Given the description of an element on the screen output the (x, y) to click on. 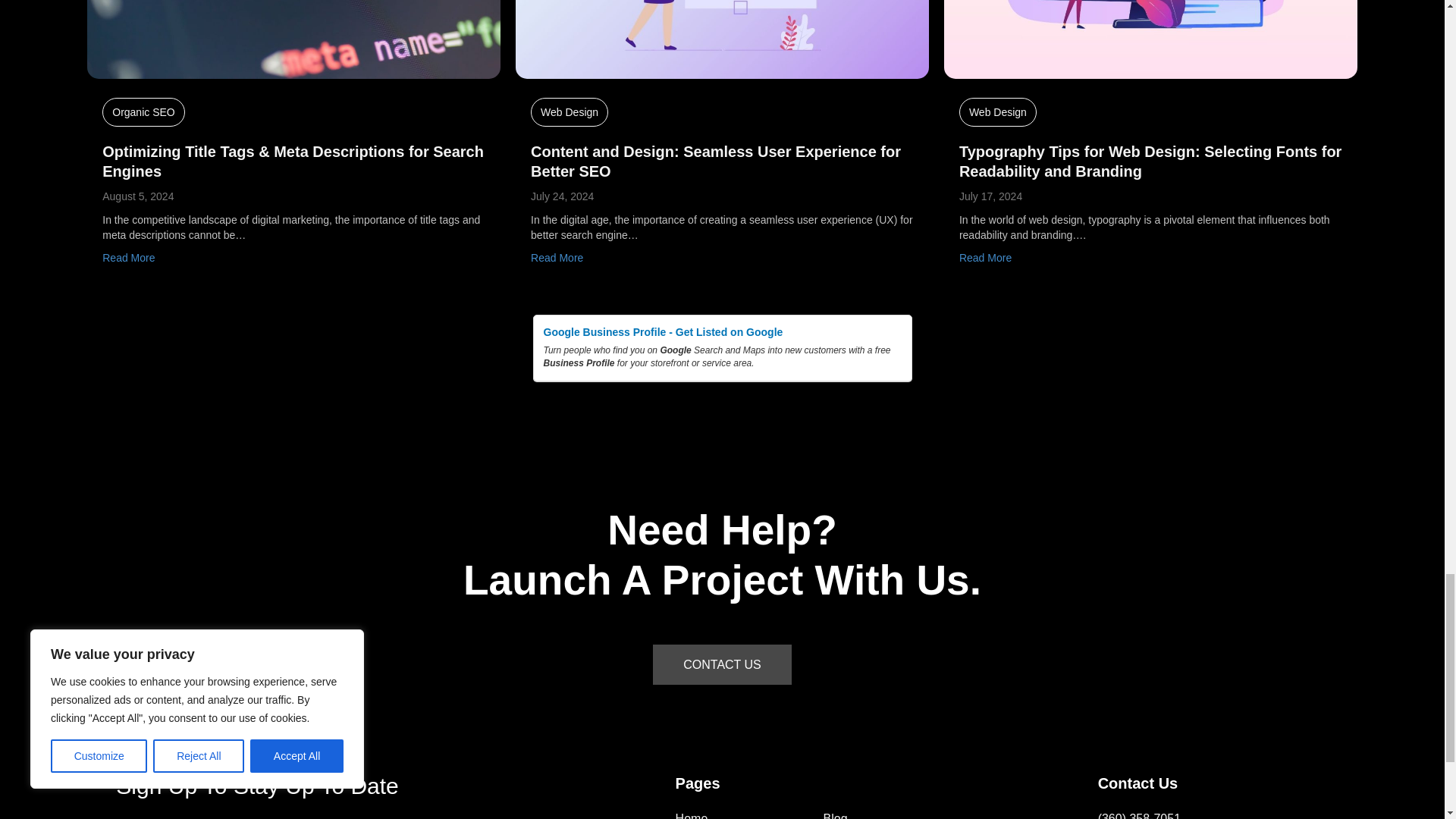
Web Design (569, 111)
Content and Design: Seamless User Experience for Better SEO (716, 161)
Organic SEO (142, 111)
Read More (127, 257)
Google Business Profile - Get Listed on Google (722, 332)
